Given the description of an element on the screen output the (x, y) to click on. 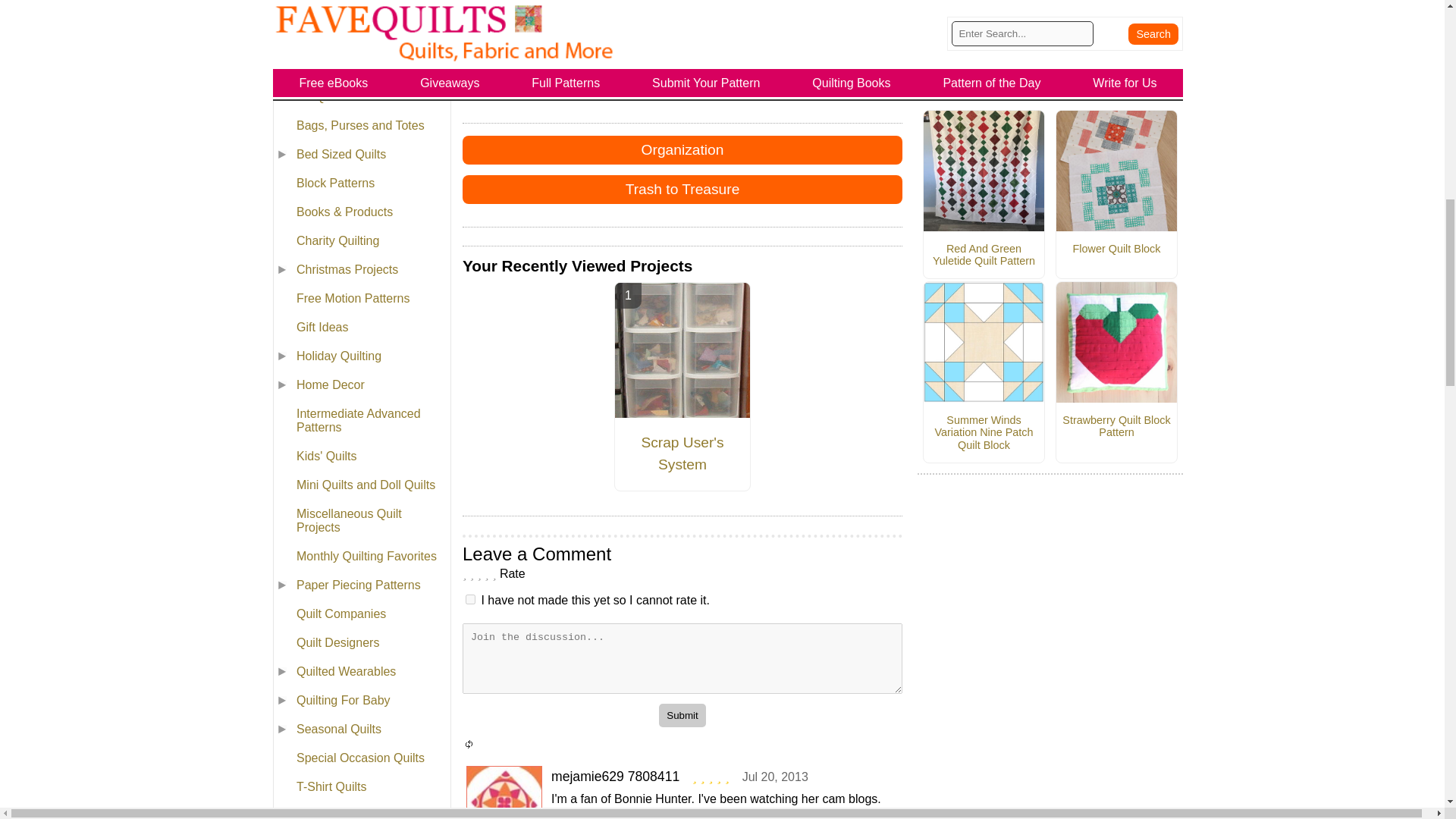
Facebook (627, 9)
Email (737, 9)
Submit (681, 715)
1 (470, 599)
Add (847, 9)
